Given the description of an element on the screen output the (x, y) to click on. 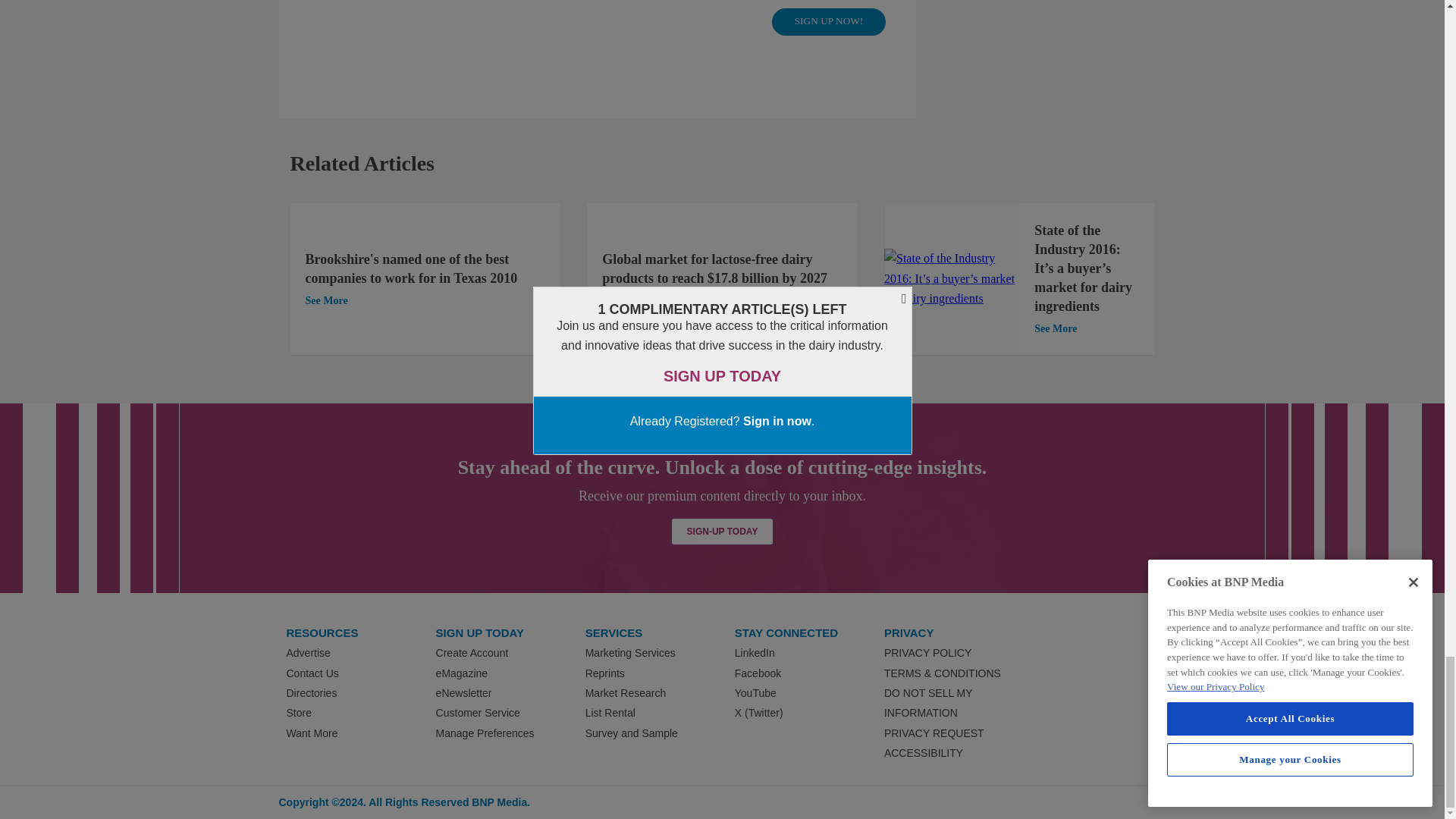
Interaction questions (597, 29)
1 (951, 278)
